Given the description of an element on the screen output the (x, y) to click on. 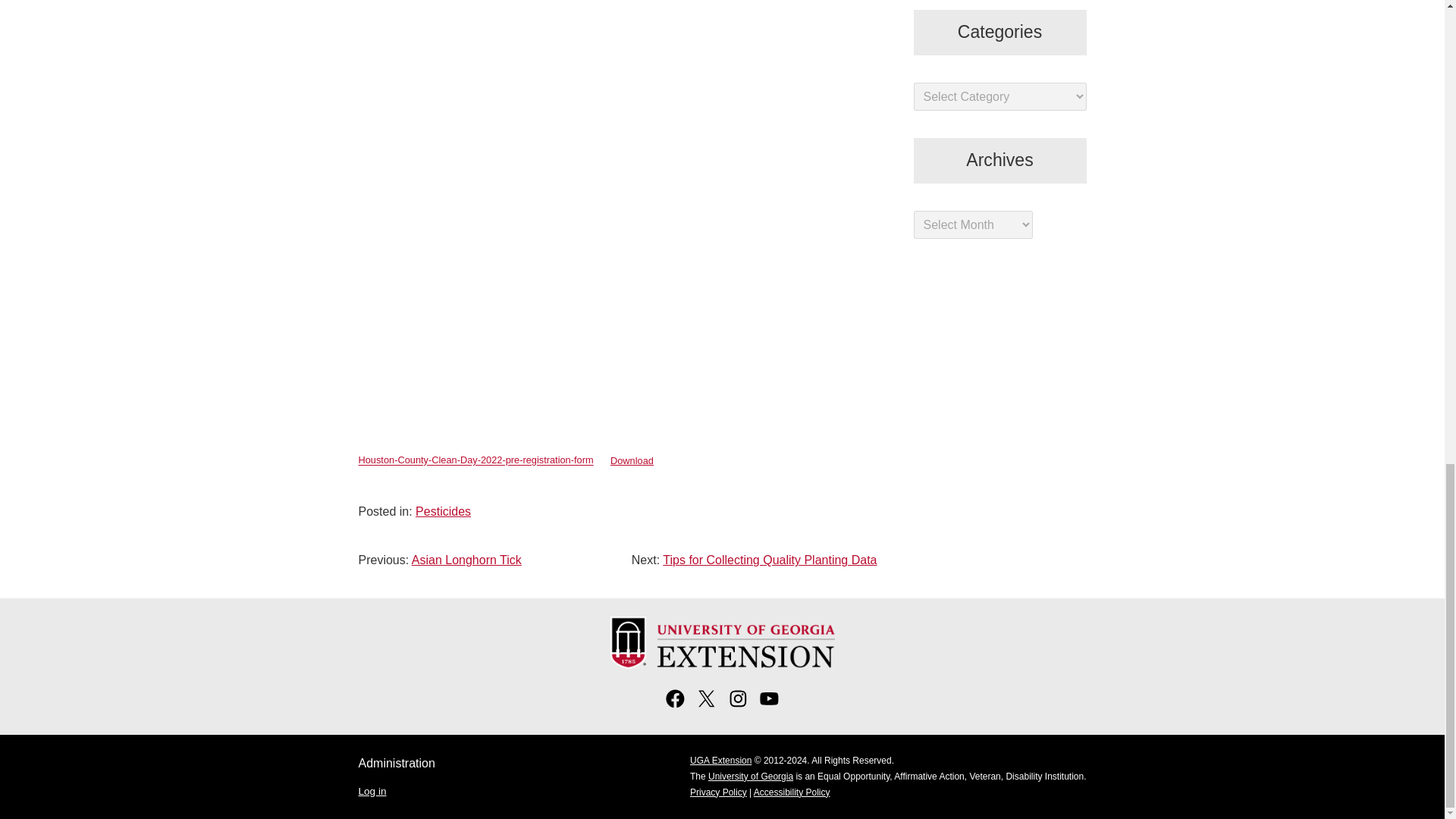
Asian Longhorn Tick (466, 559)
Tips for Collecting Quality Planting Data (769, 559)
Pesticides (442, 511)
Download (631, 460)
Houston-County-Clean-Day-2022-pre-registration-form (475, 460)
